Given the description of an element on the screen output the (x, y) to click on. 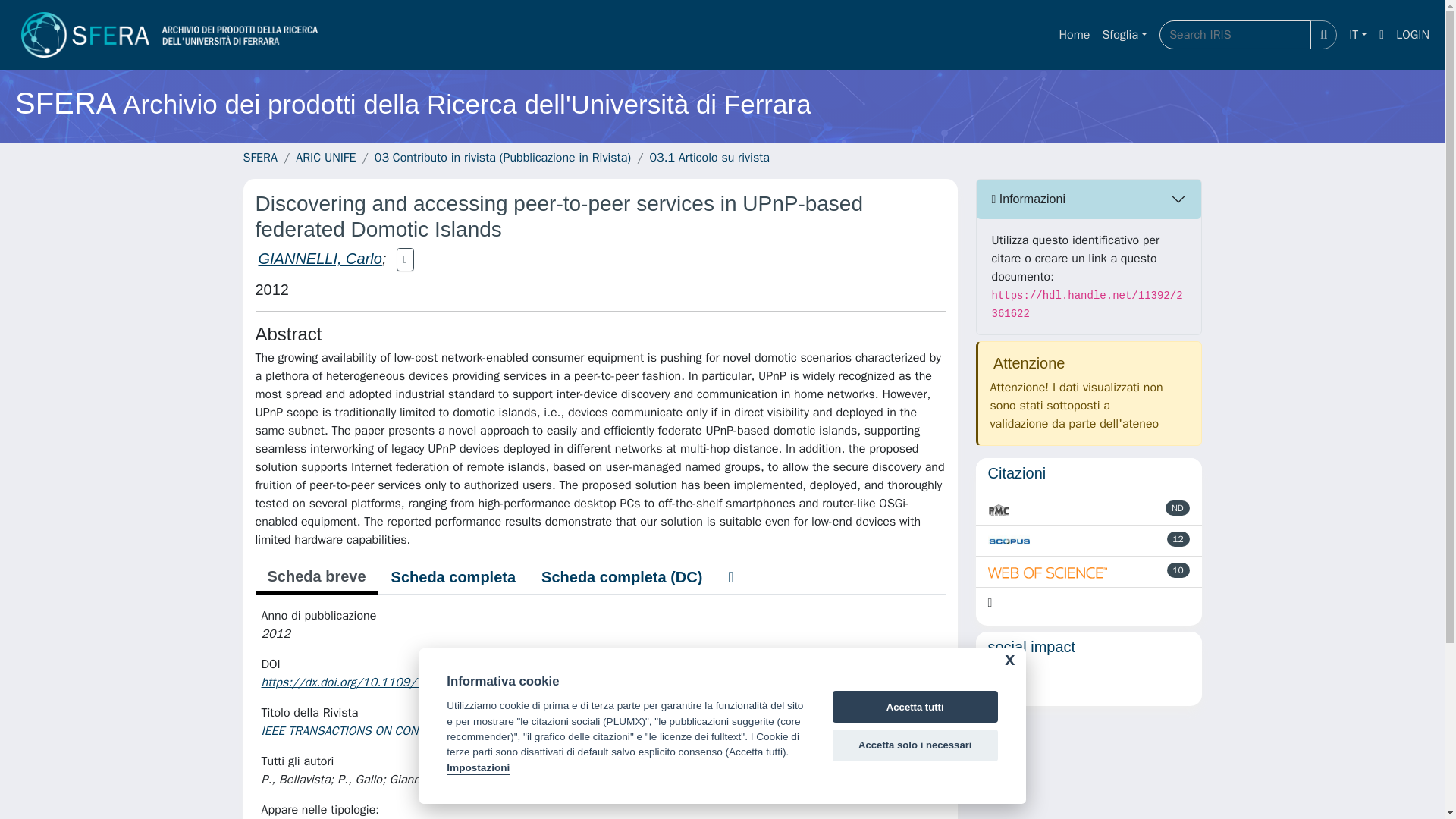
Scheda breve (315, 577)
IT (1357, 34)
03.1 Articolo su rivista (709, 157)
LOGIN (1412, 34)
aggiornato in data 10-07-2024 17:43 (1178, 539)
Sfoglia (1124, 34)
ARIC UNIFE (325, 157)
IEEE TRANSACTIONS ON CONSUMER ELECTRONICS (399, 730)
GIANNELLI, Carlo (319, 258)
Home (1074, 34)
 Informazioni (1088, 199)
Scheda completa (453, 576)
SFERA (259, 157)
